Given the description of an element on the screen output the (x, y) to click on. 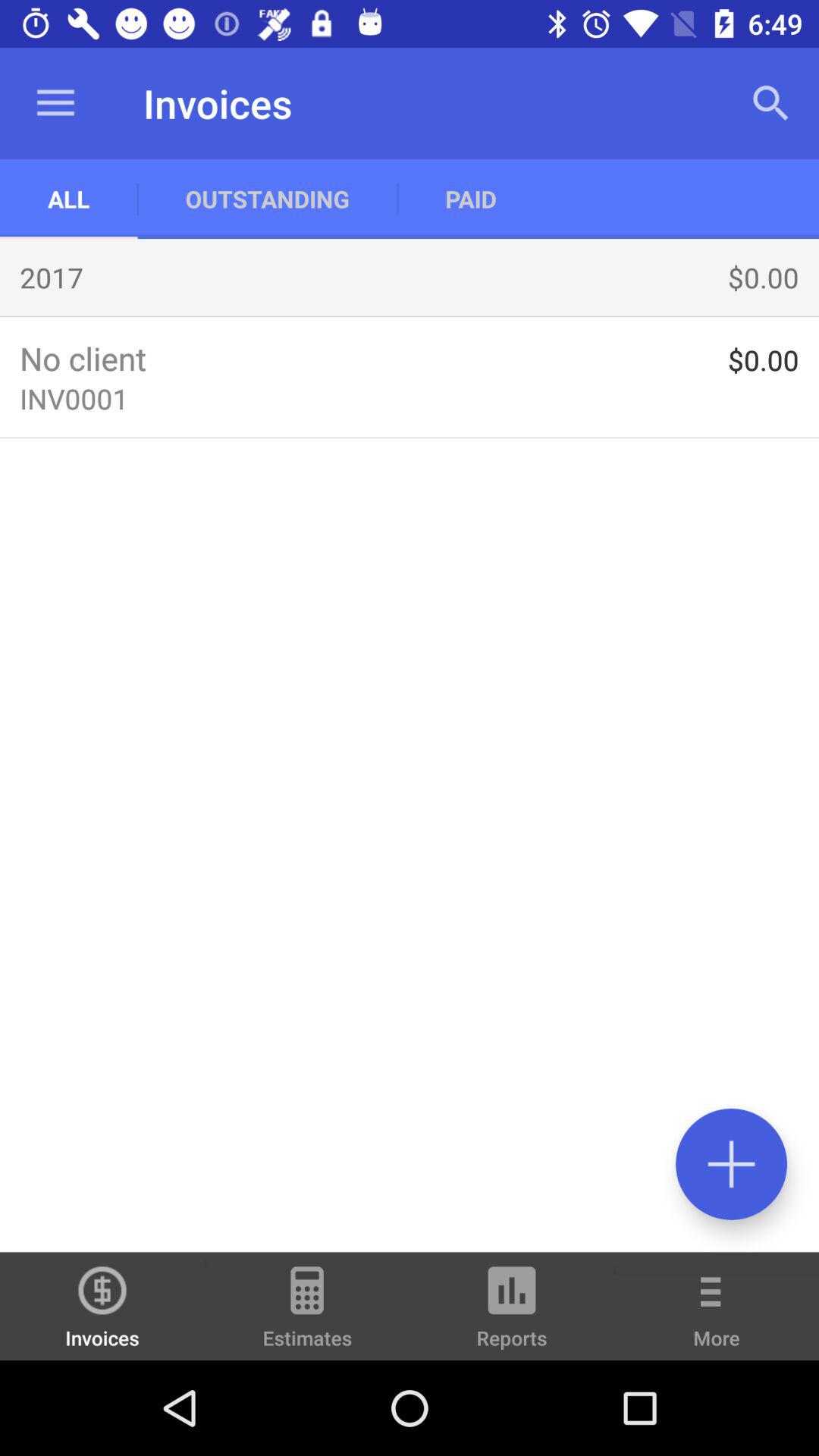
add invoice (731, 1163)
